Given the description of an element on the screen output the (x, y) to click on. 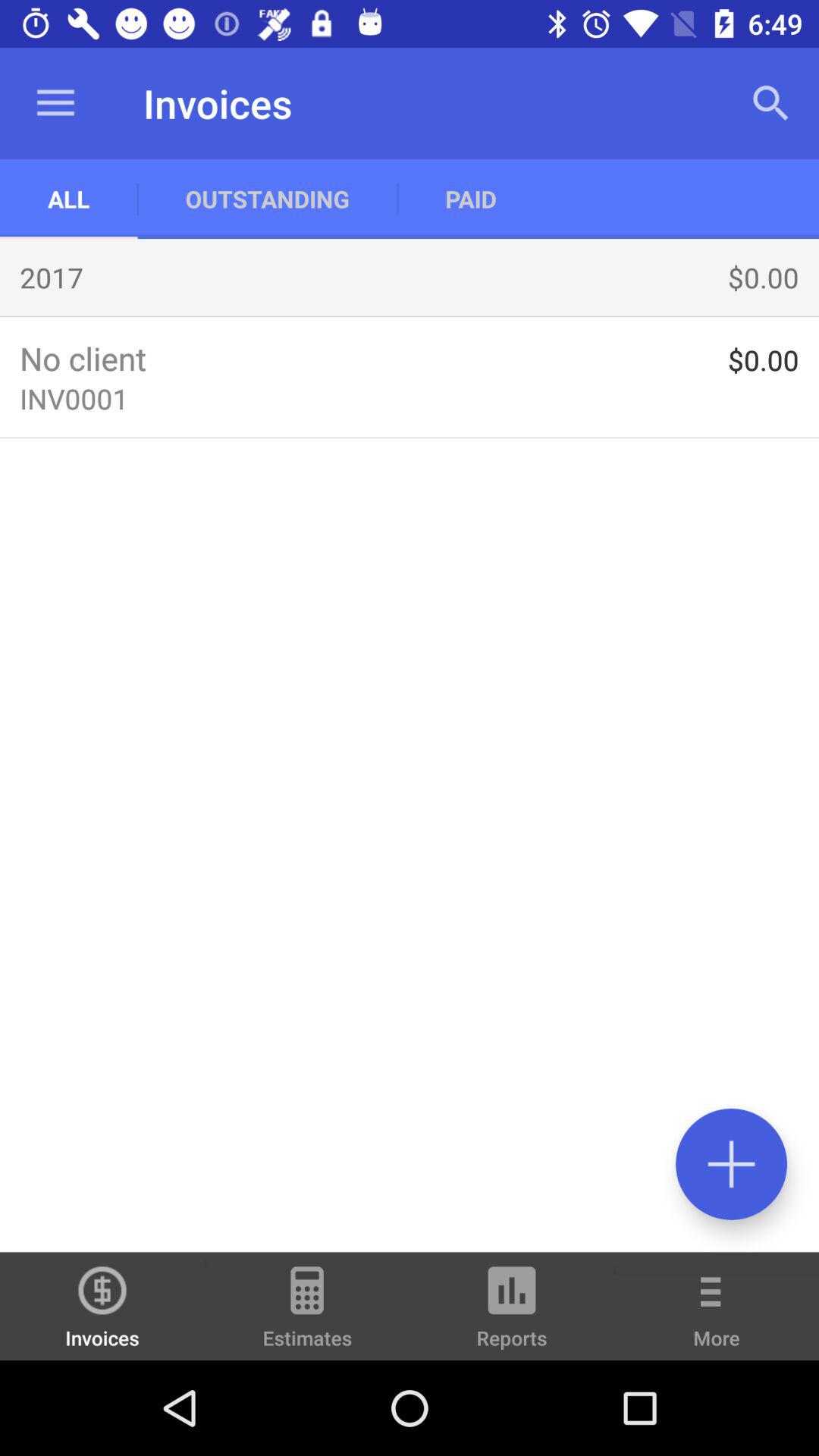
add invoice (731, 1163)
